Given the description of an element on the screen output the (x, y) to click on. 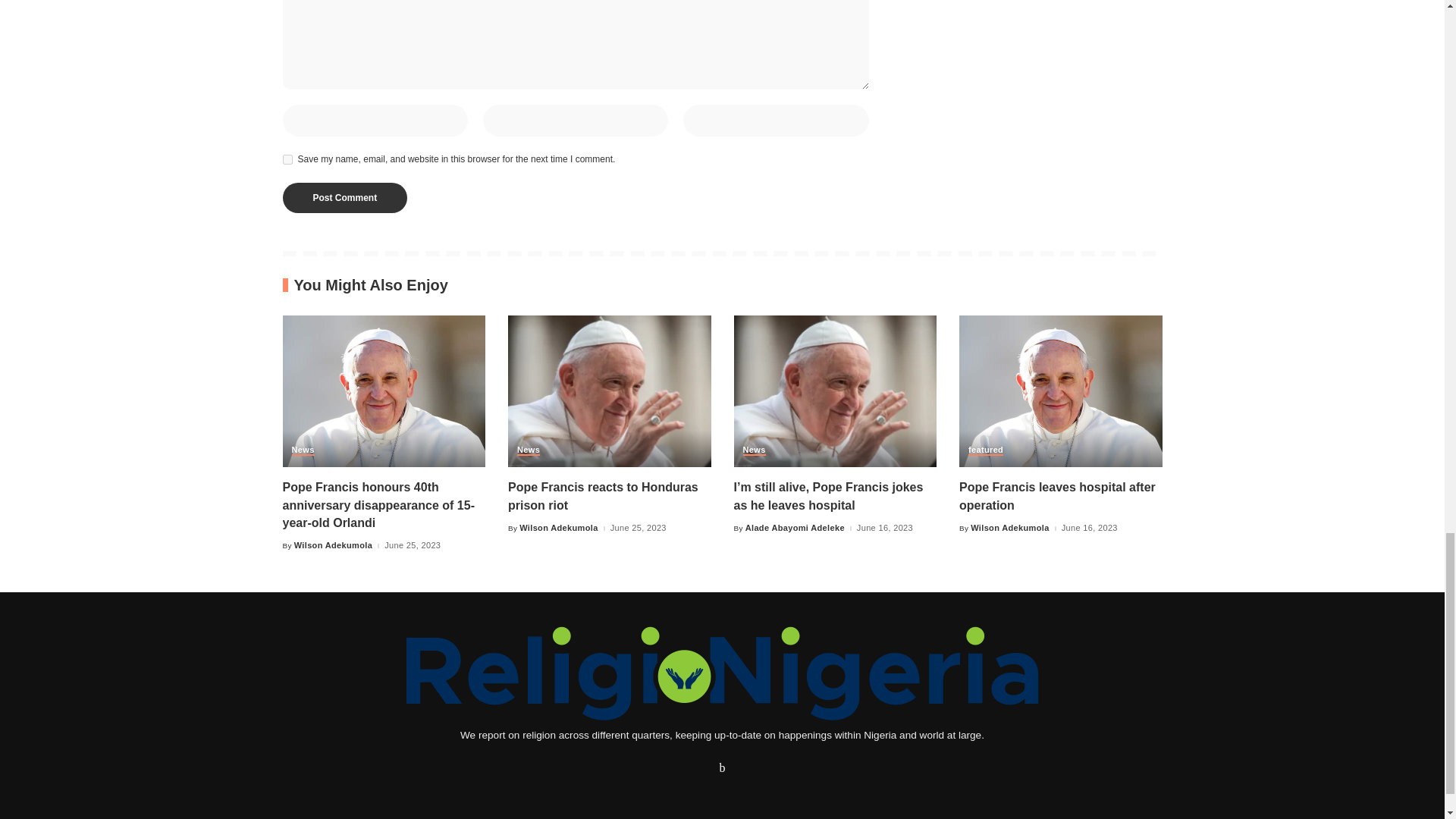
Post Comment (344, 197)
yes (287, 159)
